Given the description of an element on the screen output the (x, y) to click on. 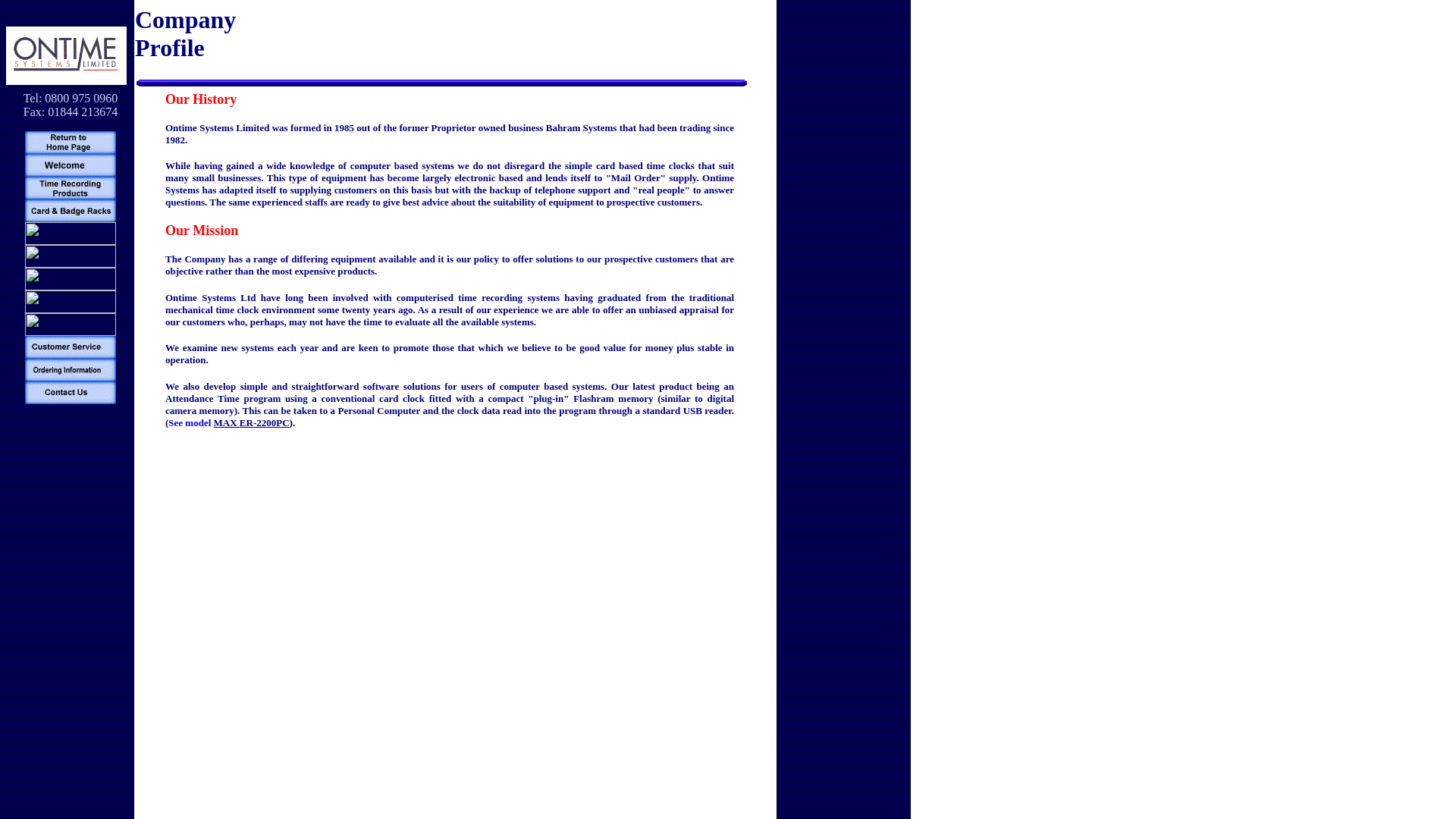
Fax: 01844 213674 (70, 111)
MAX ER-2200PC (251, 422)
Tel: 0800 975 0960 (70, 97)
